Given the description of an element on the screen output the (x, y) to click on. 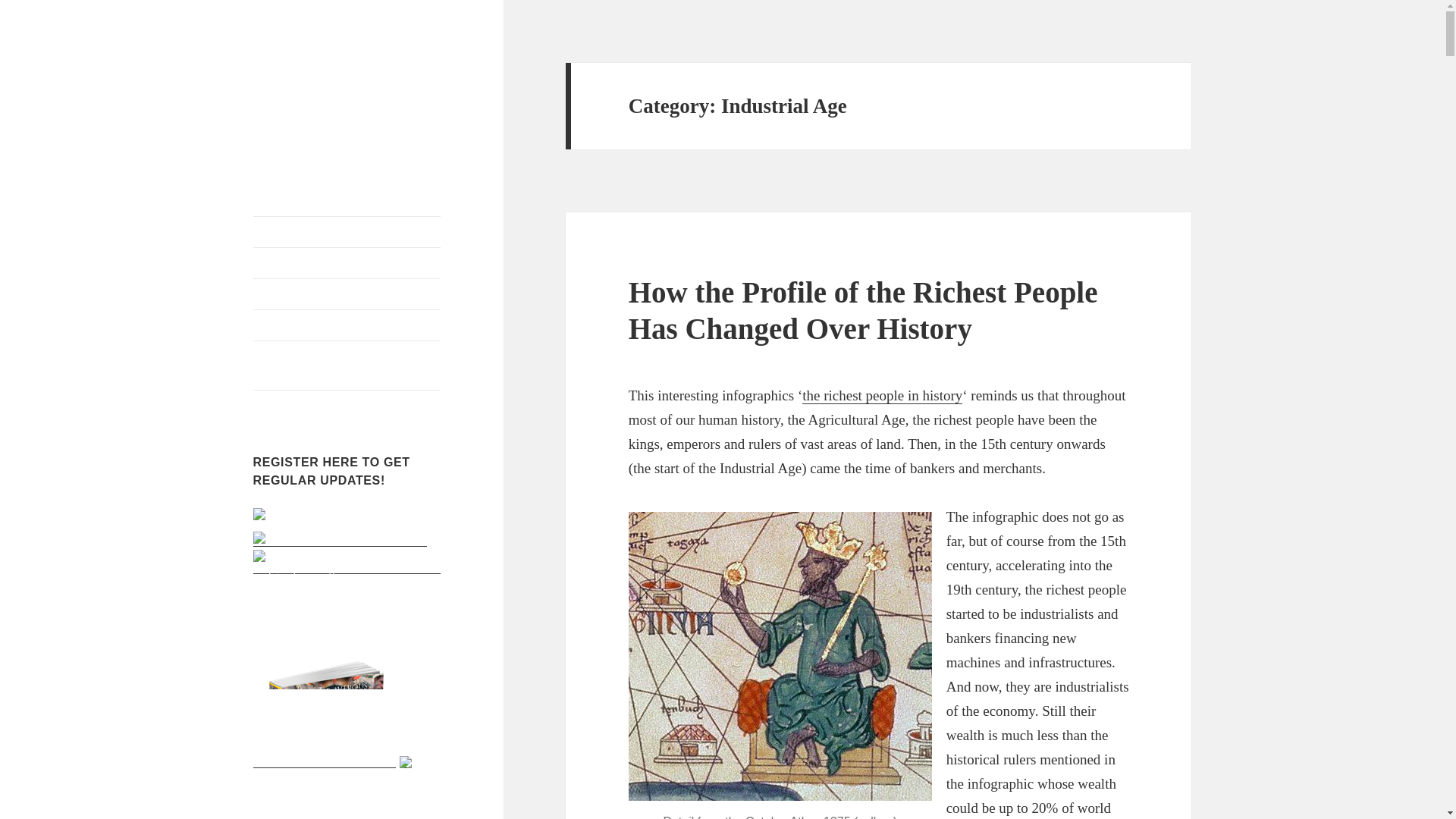
The Fourth Revolution blog on Twitter (339, 540)
Idea origin (347, 294)
Vocabulary of the Fourth Revolution (347, 232)
The Fourth Revolution Blog (331, 86)
BUY THE BOOK (347, 325)
receive regular Fourth Revolution updates on your email (347, 567)
Author (347, 263)
